Given the description of an element on the screen output the (x, y) to click on. 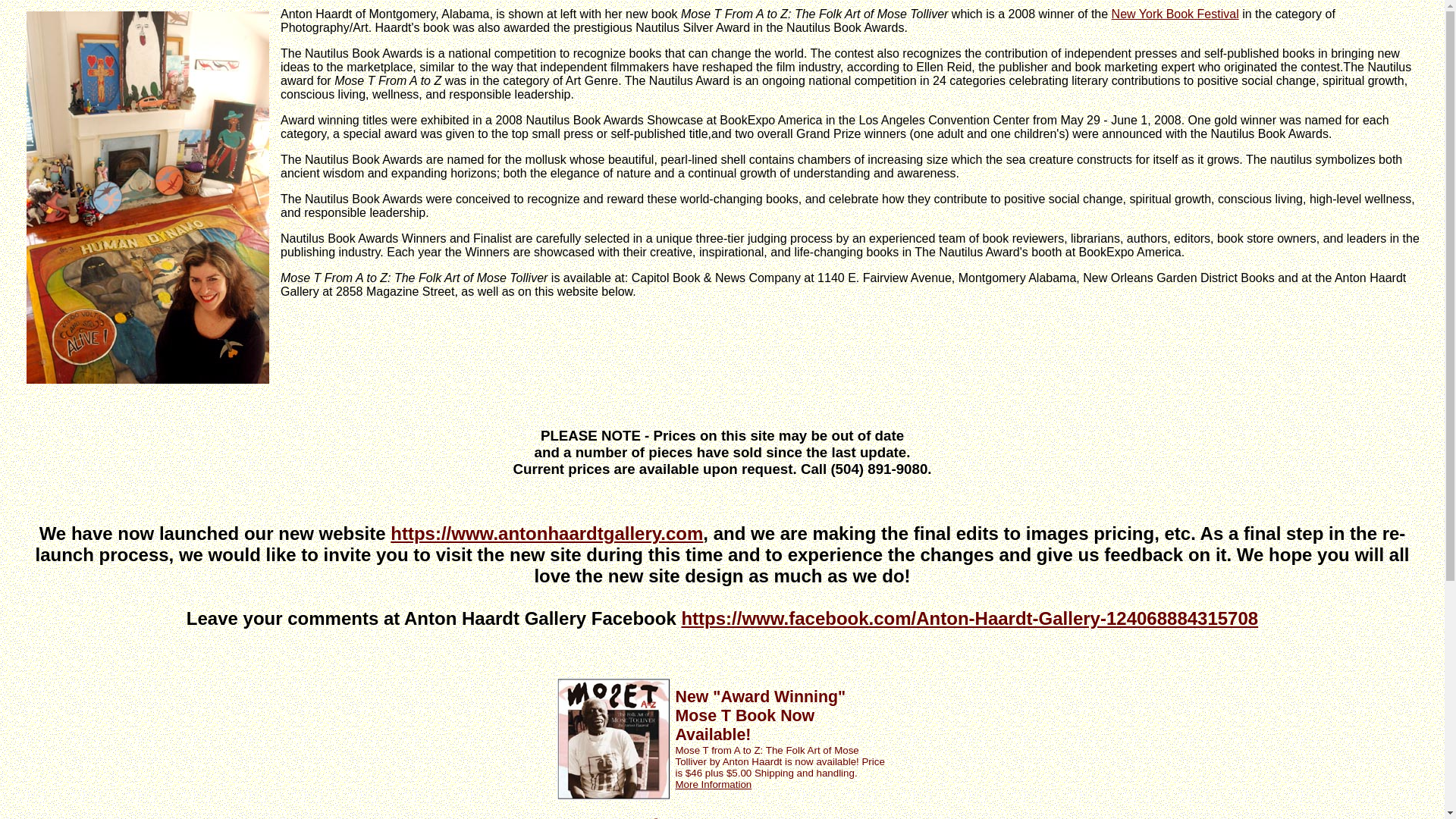
New York Book Festival (1175, 13)
More Information (713, 784)
